Given the description of an element on the screen output the (x, y) to click on. 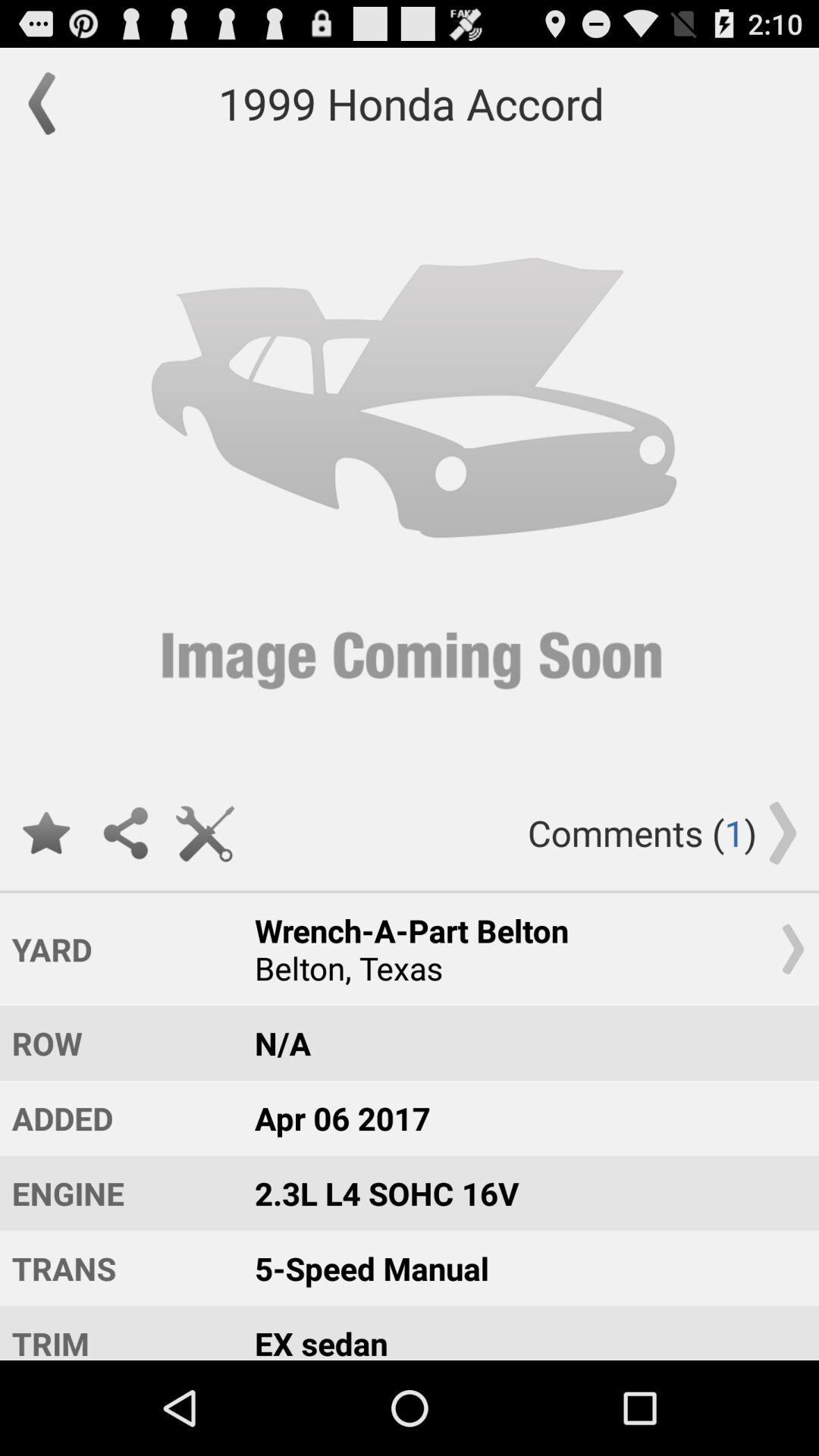
turn on the item below 2 3l l4 (522, 1267)
